Given the description of an element on the screen output the (x, y) to click on. 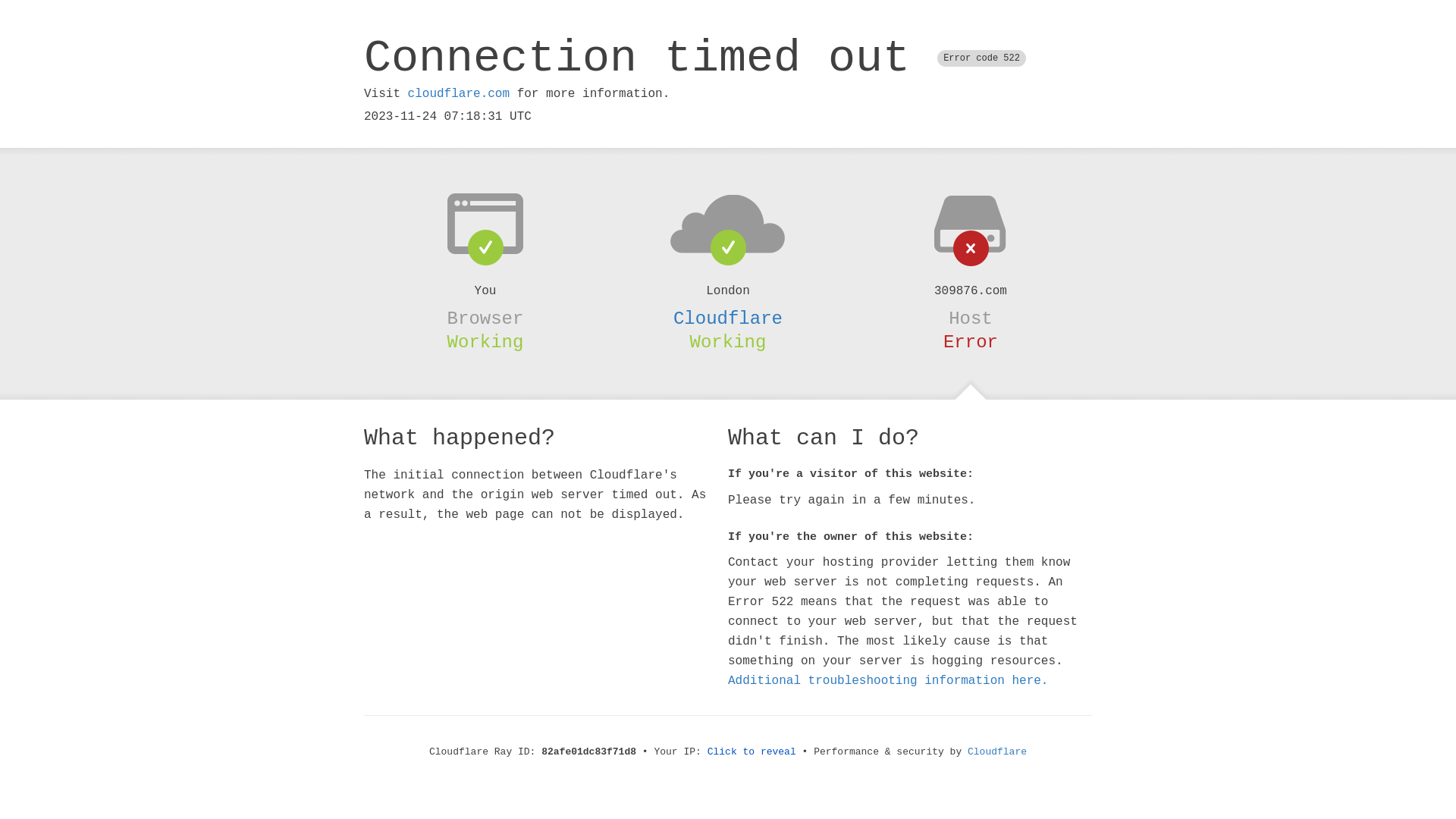
Cloudflare Element type: text (727, 318)
cloudflare.com Element type: text (458, 93)
Cloudflare Element type: text (996, 751)
Additional troubleshooting information here. Element type: text (888, 680)
Click to reveal Element type: text (751, 751)
